Given the description of an element on the screen output the (x, y) to click on. 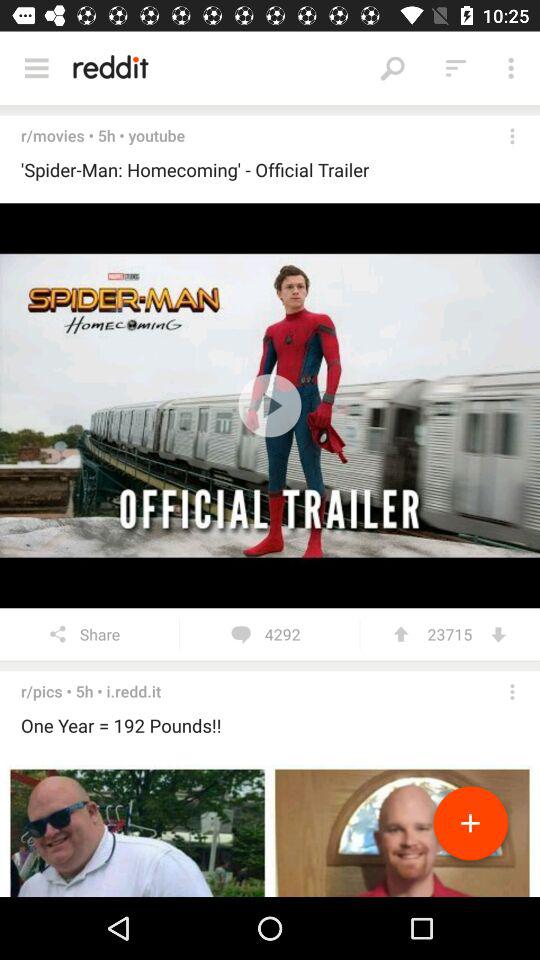
a menu button with a list of more options (36, 68)
